Given the description of an element on the screen output the (x, y) to click on. 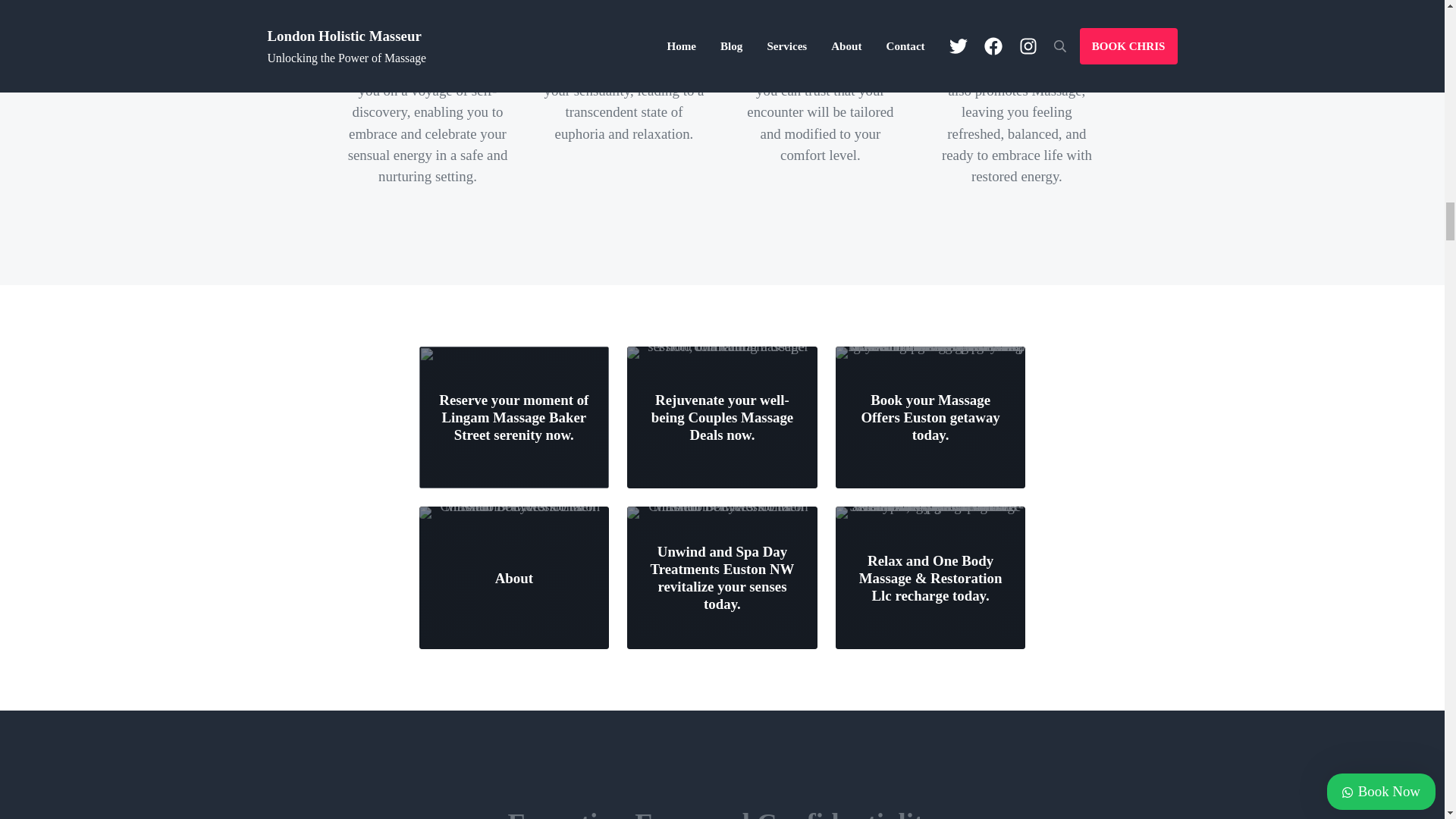
About (513, 578)
Rejuvenate your well-being Couples Massage Deals now. (722, 417)
Book your Massage Offers Euston getaway today. (930, 417)
